Given the description of an element on the screen output the (x, y) to click on. 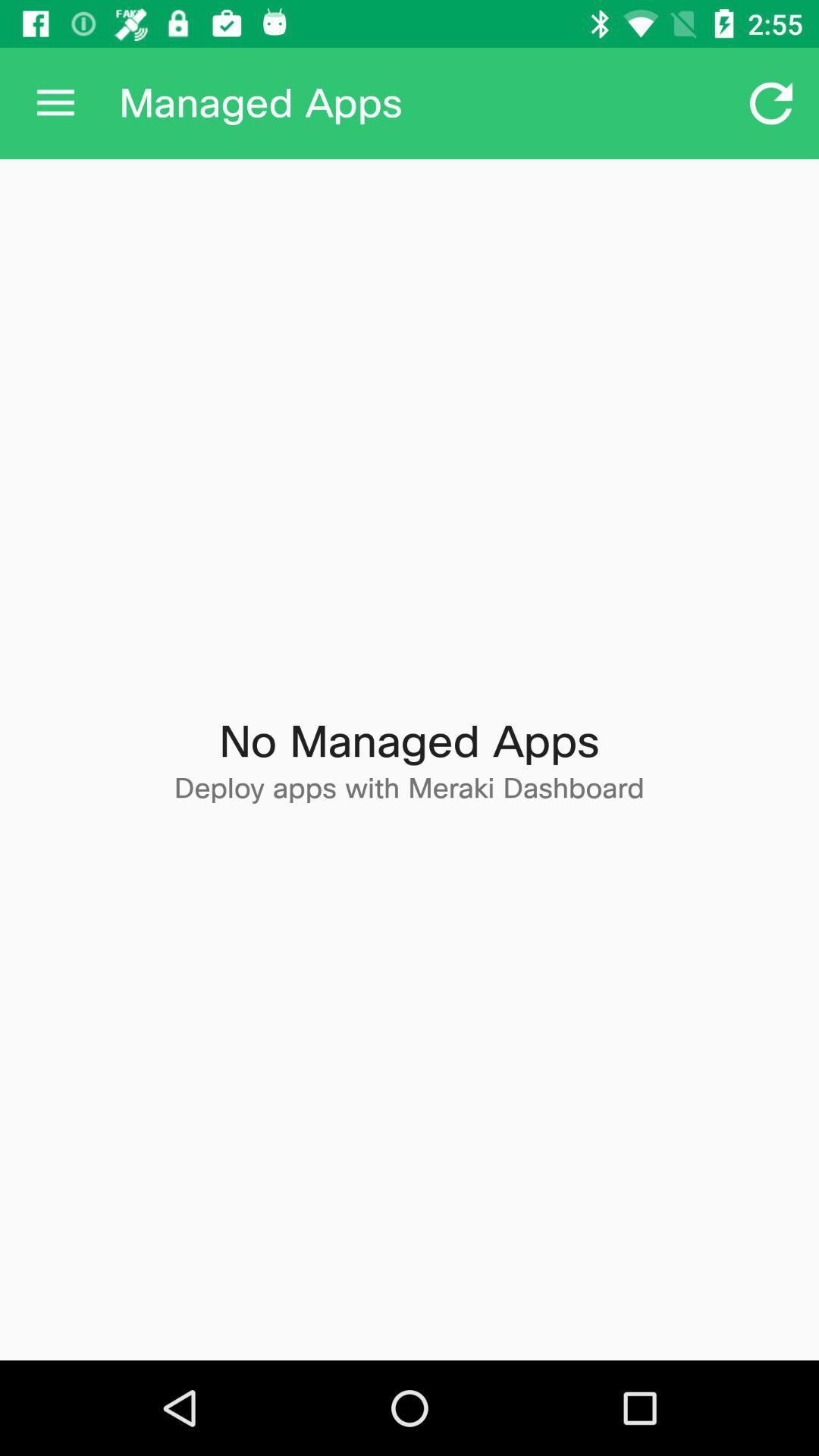
tap app next to the managed apps item (771, 103)
